Given the description of an element on the screen output the (x, y) to click on. 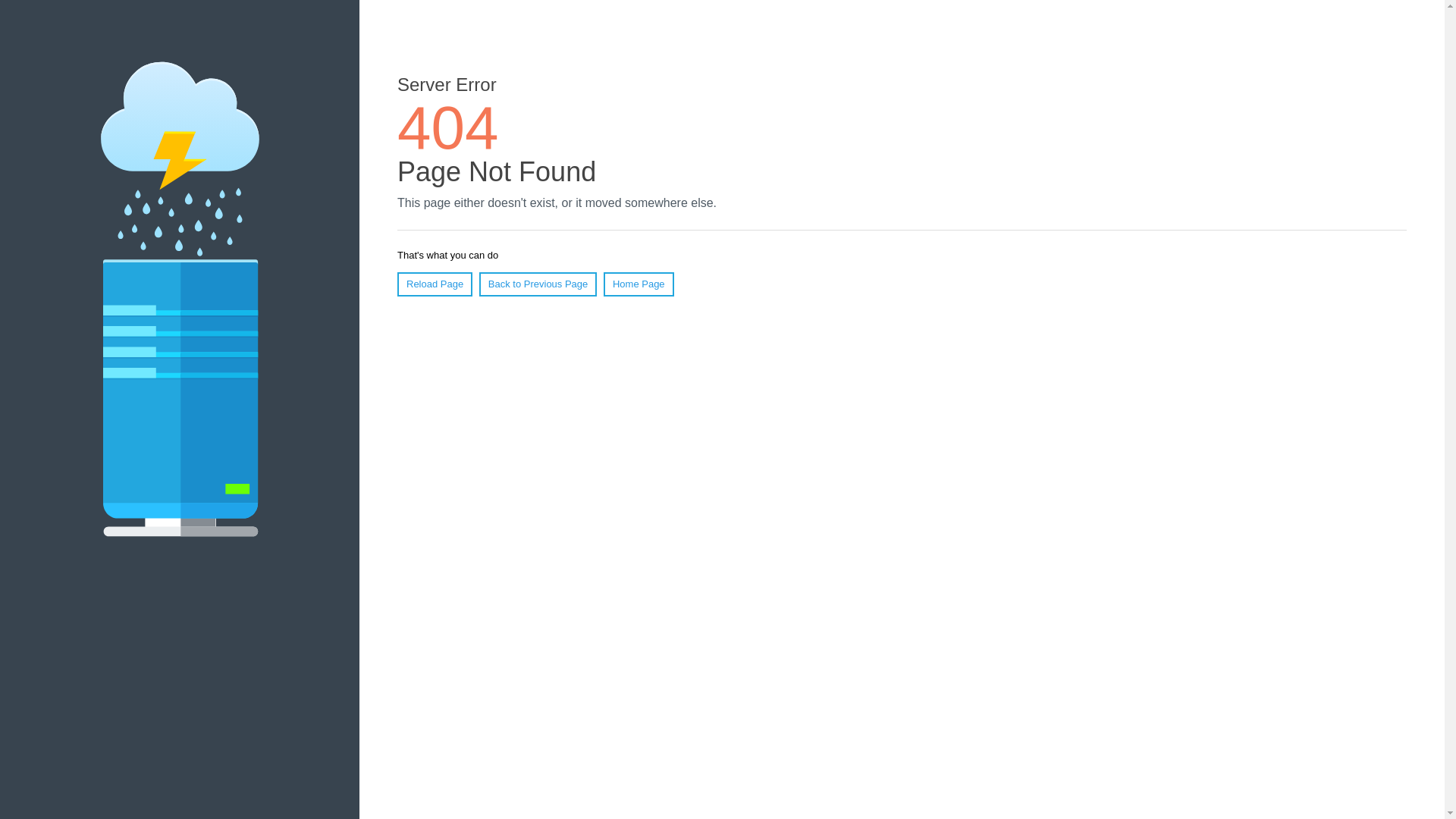
Home Page Element type: text (638, 284)
Reload Page Element type: text (434, 284)
Back to Previous Page Element type: text (538, 284)
